Given the description of an element on the screen output the (x, y) to click on. 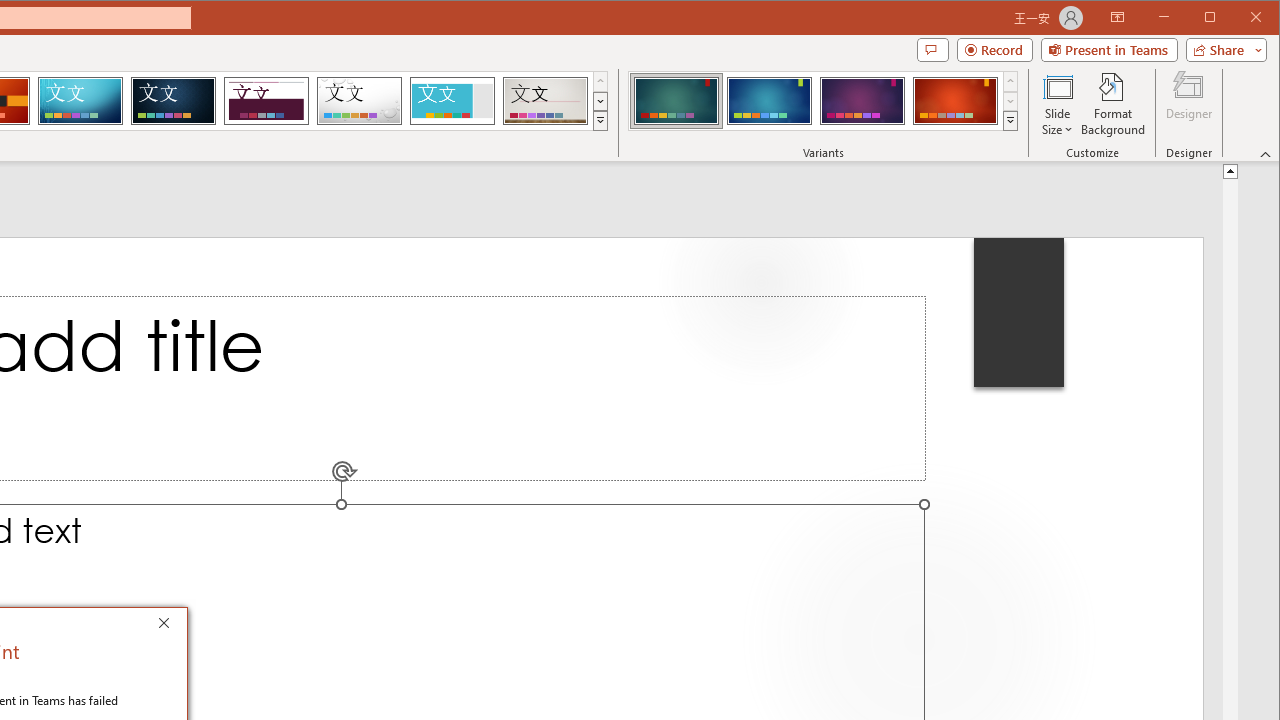
Slide Size (1057, 104)
Gallery (545, 100)
Frame (452, 100)
Format Background (1113, 104)
Variants (1010, 120)
